Given the description of an element on the screen output the (x, y) to click on. 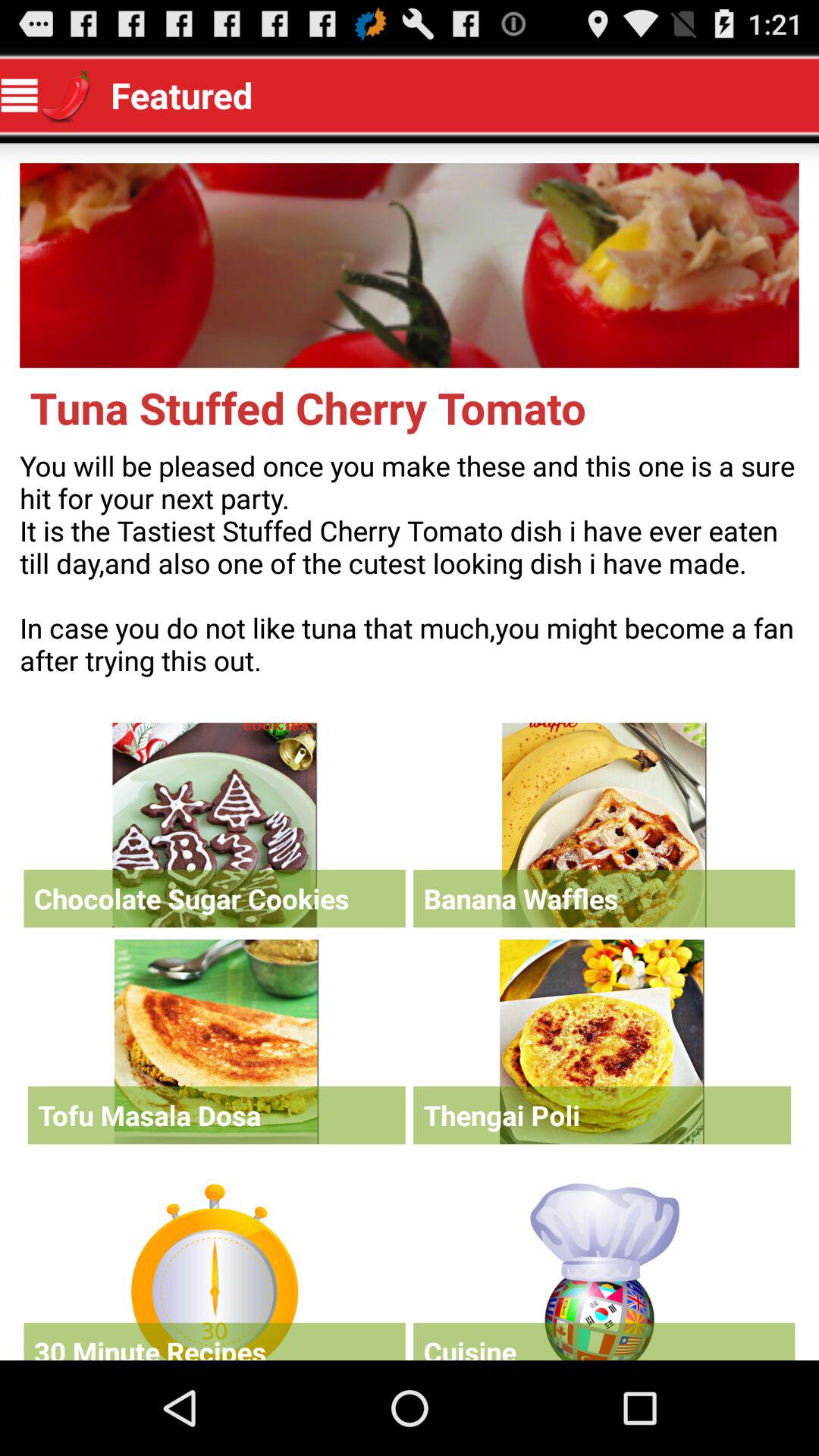
open tab (604, 1268)
